Given the description of an element on the screen output the (x, y) to click on. 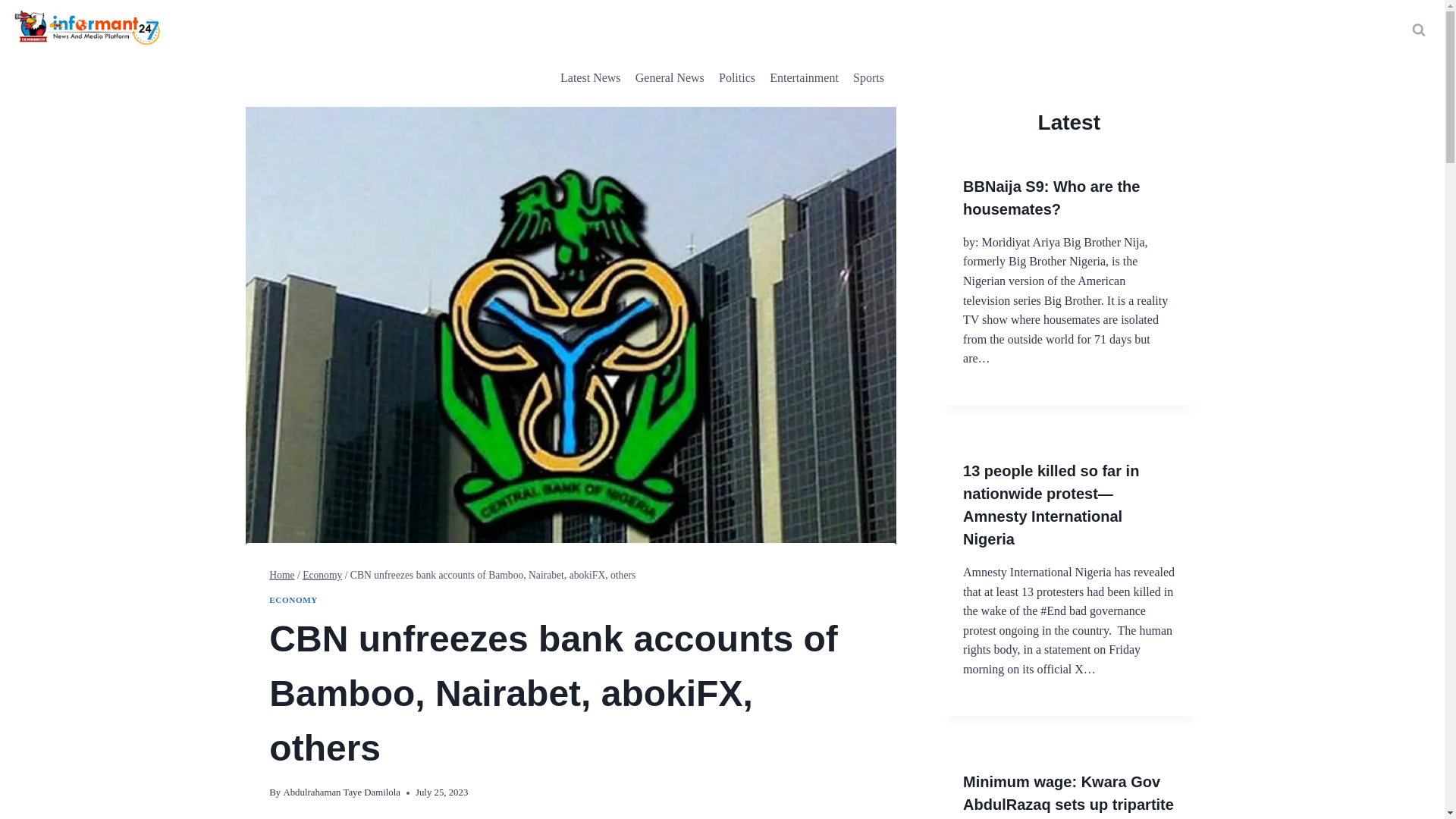
Nigeria Political News (736, 77)
Sports (868, 77)
Politics (736, 77)
ECONOMY (293, 599)
General News (669, 77)
Naija Gist (803, 77)
Entertainment (803, 77)
Economy (322, 574)
Nigeria Football News (868, 77)
Abdulrahaman Taye Damilola (341, 792)
Latest News (590, 77)
Home (281, 574)
Latest News (590, 77)
General Nigeria News (669, 77)
